Given the description of an element on the screen output the (x, y) to click on. 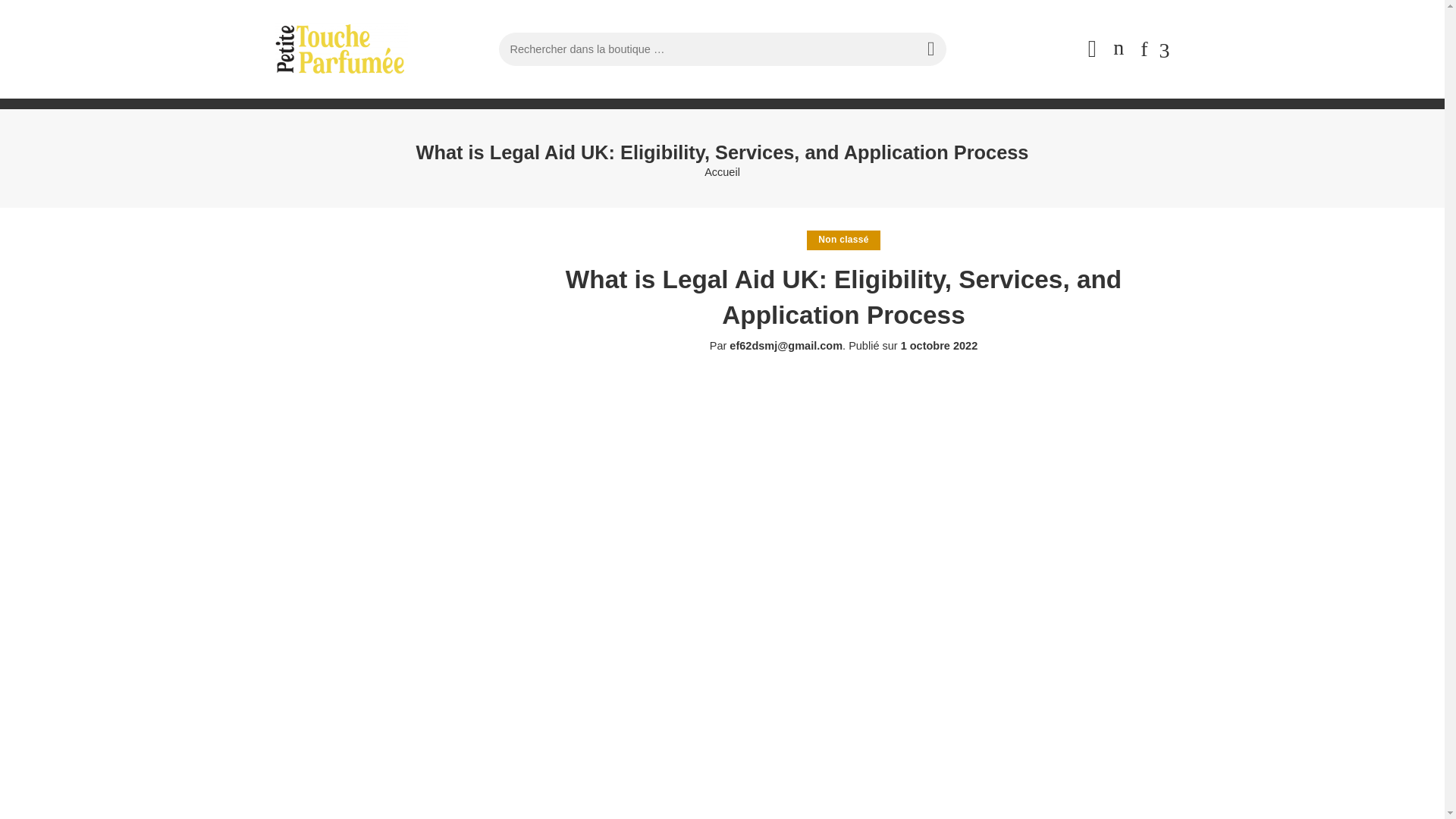
Accueil (721, 172)
Accueil (721, 172)
12h43 (939, 345)
Panier (1118, 48)
1 octobre 2022 (939, 345)
